Given the description of an element on the screen output the (x, y) to click on. 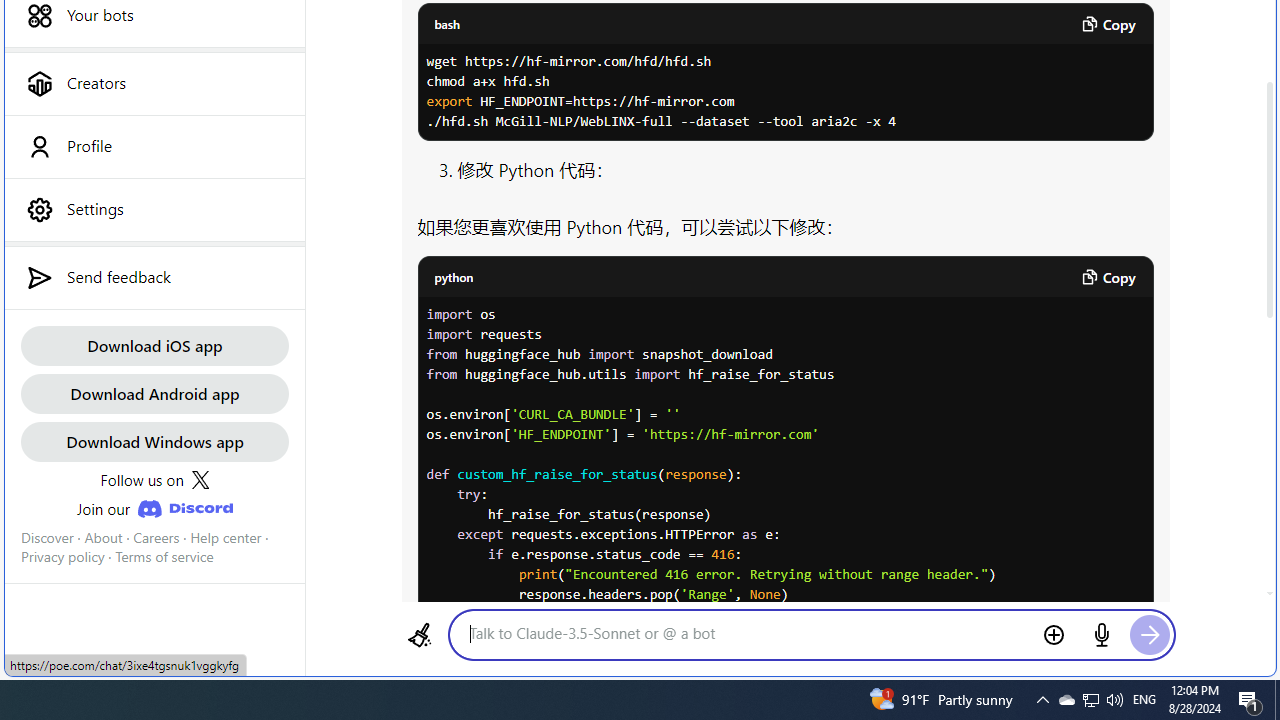
Class: FollowTwitterLink_twitterIconBlack__SS_7V (199, 480)
About (103, 537)
Copy (1107, 276)
Terms of service (164, 557)
Download Android app (154, 392)
Profile (154, 146)
Creators (154, 83)
Download Windows app (154, 441)
